Given the description of an element on the screen output the (x, y) to click on. 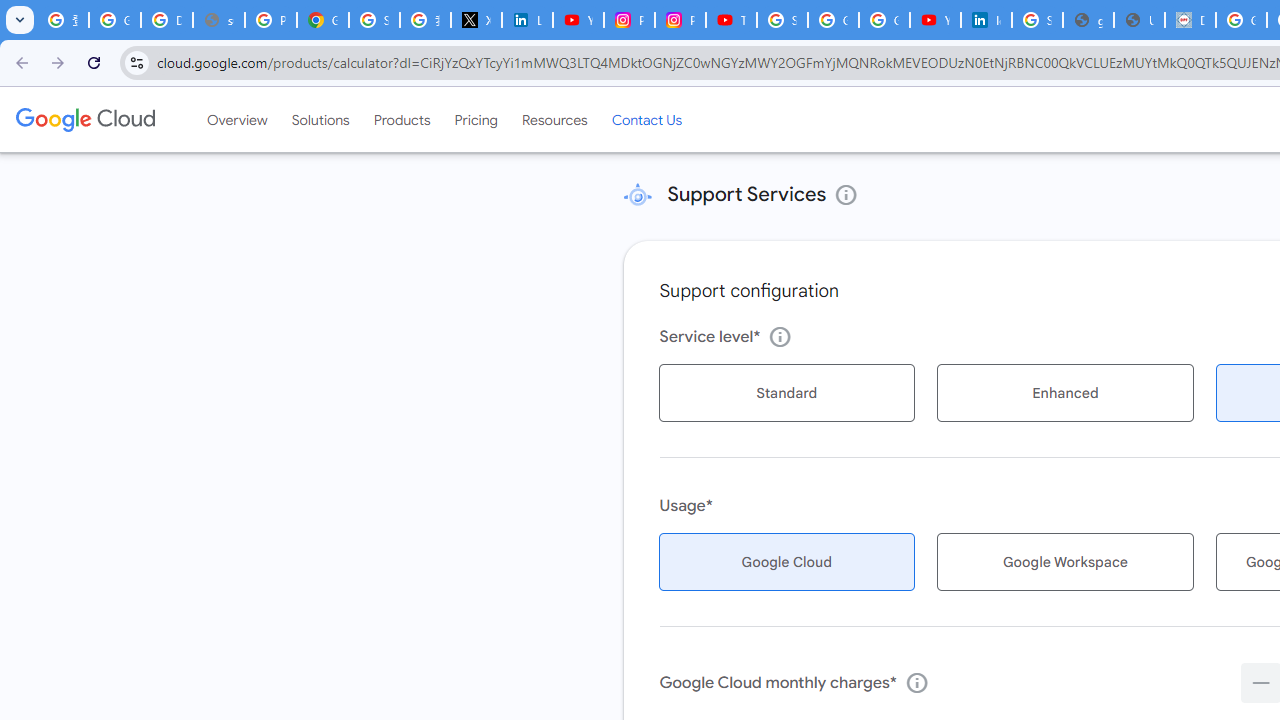
X (475, 20)
Contact Us (646, 119)
Privacy Help Center - Policies Help (270, 20)
Sign in - Google Accounts (374, 20)
Data Privacy Framework (1189, 20)
tooltip (916, 682)
YouTube Content Monetization Policies - How YouTube Works (578, 20)
google_privacy_policy_en.pdf (1087, 20)
View details (845, 194)
Google Cloud (84, 119)
